Given the description of an element on the screen output the (x, y) to click on. 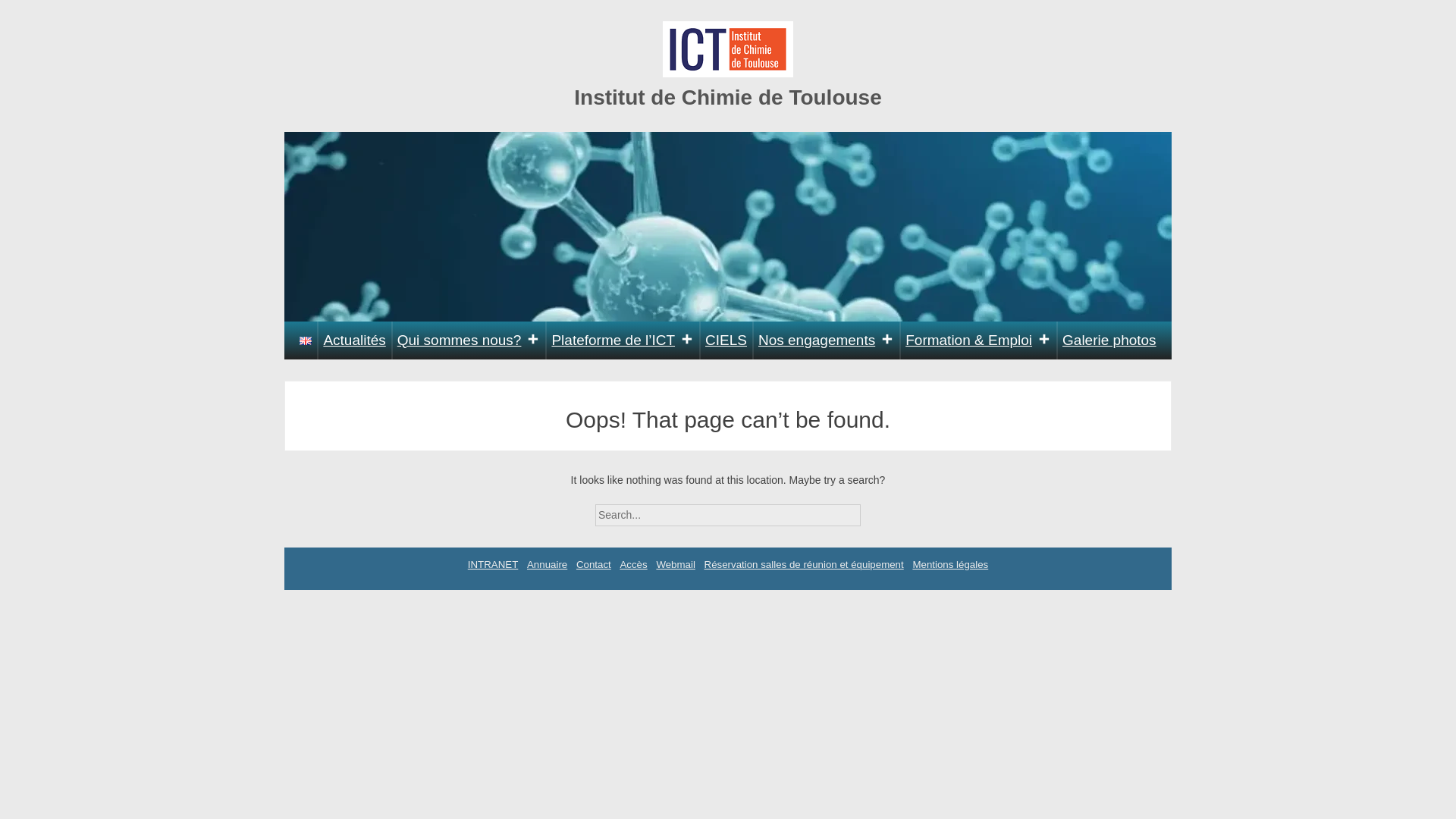
CIELS (726, 340)
Search (873, 509)
Search (873, 509)
Institut de Chimie de Toulouse (727, 97)
Nos engagements (825, 340)
Qui sommes nous? (468, 340)
